Given the description of an element on the screen output the (x, y) to click on. 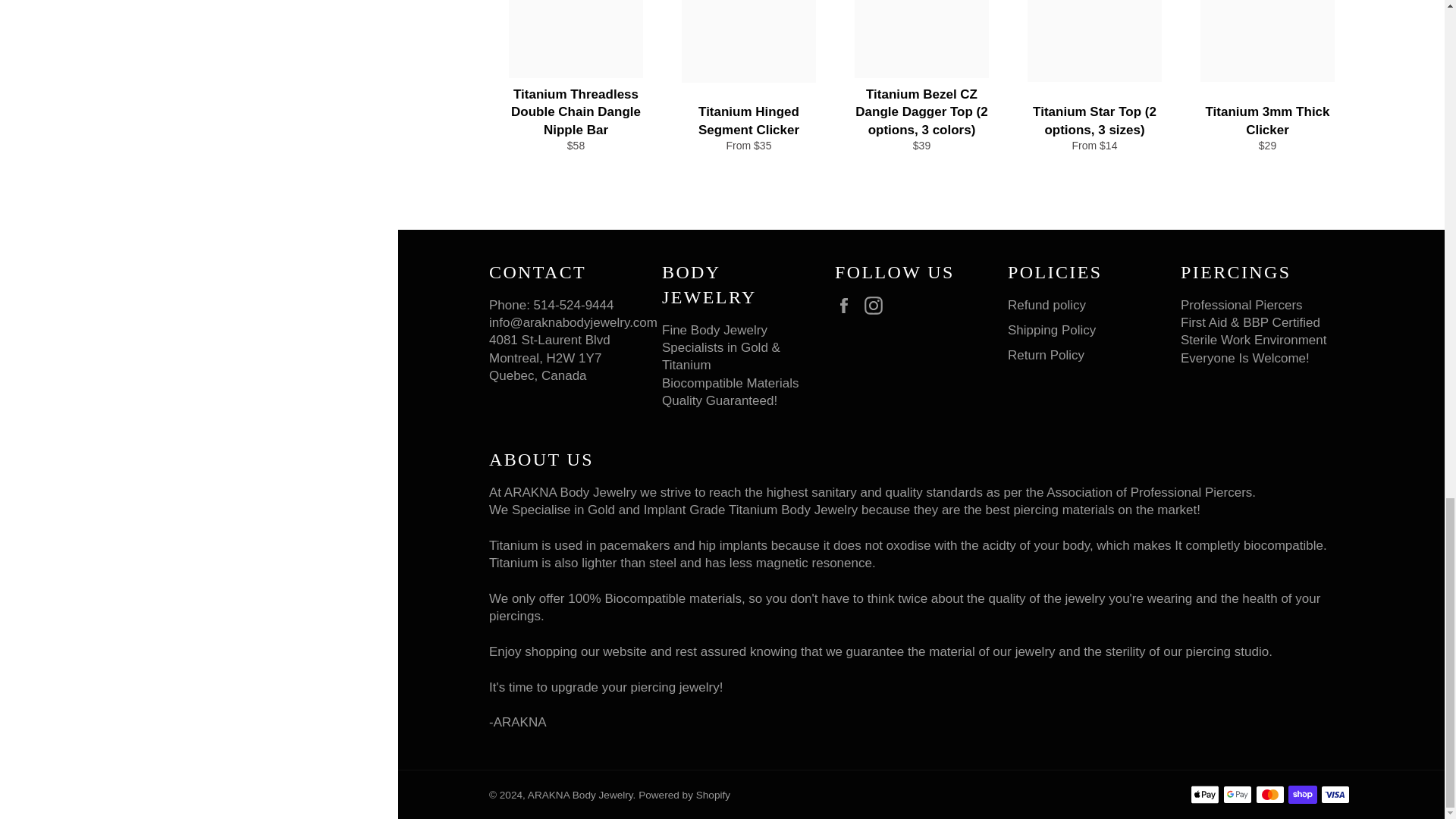
ARAKNA Body Jewelry on Instagram (876, 305)
ARAKNA Body Jewelry on Facebook (847, 305)
